Given the description of an element on the screen output the (x, y) to click on. 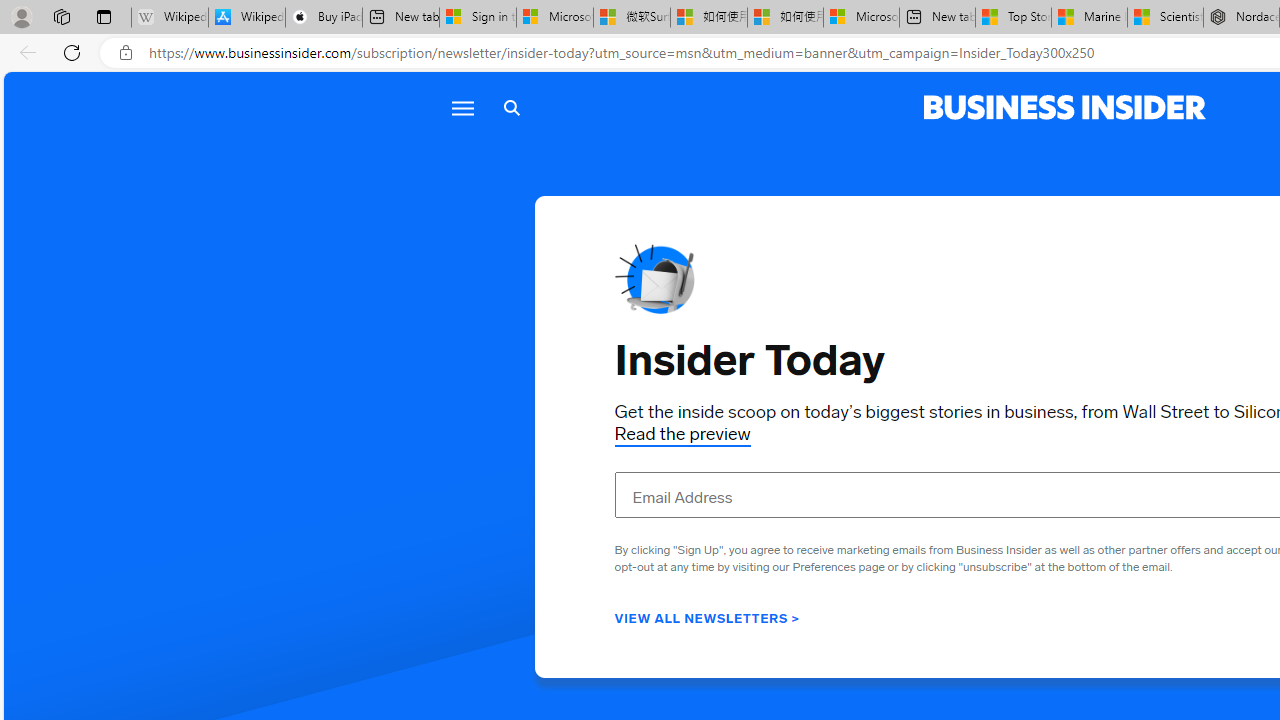
Search icon (511, 107)
Go to the search page. (511, 107)
Mailbox (654, 278)
Read the preview (682, 434)
